Given the description of an element on the screen output the (x, y) to click on. 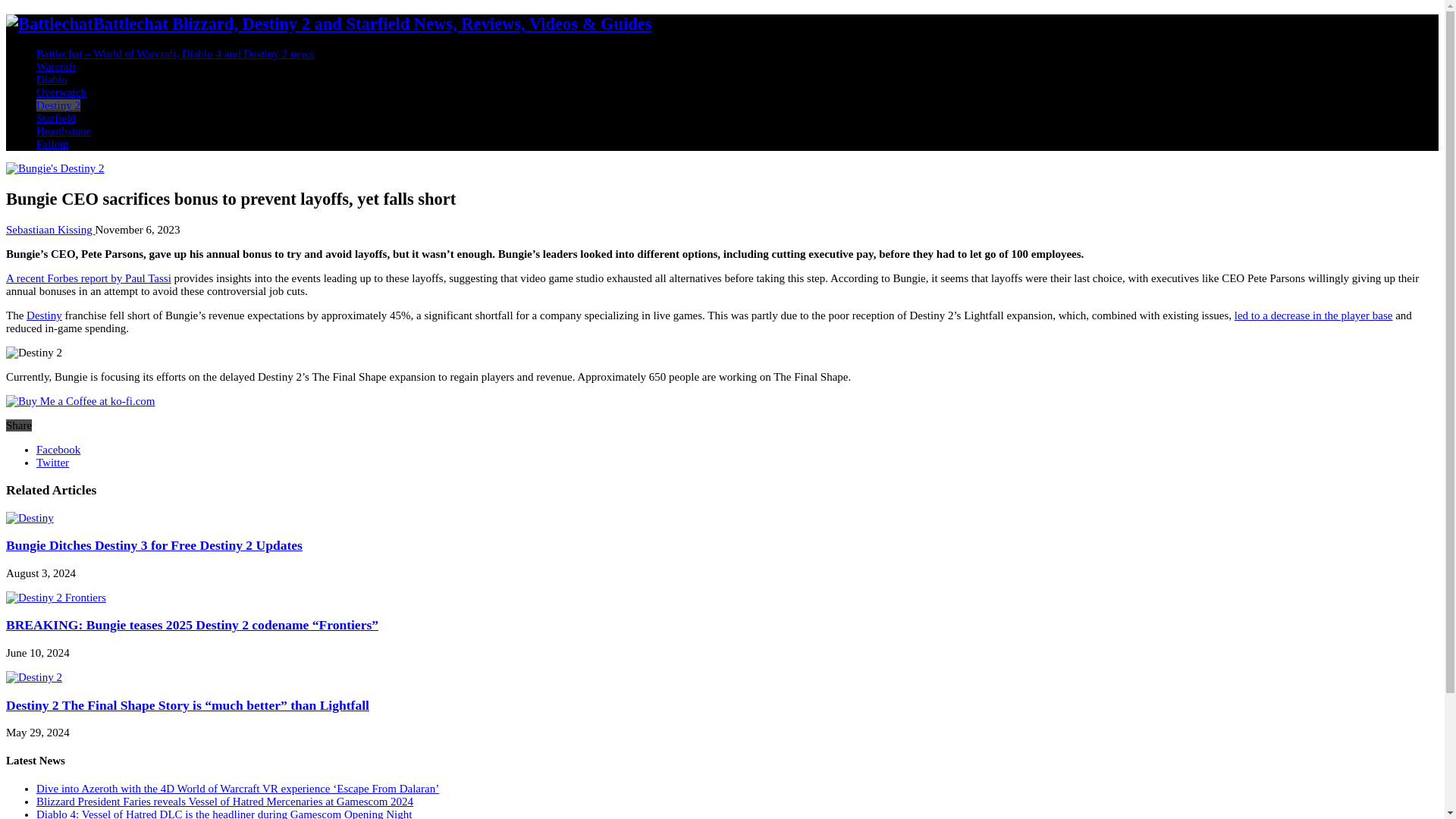
Starfield (55, 118)
A recent Forbes report by Paul Tassi (88, 277)
Diablo (51, 79)
Bungie Ditches Destiny 3 for Free Destiny 2 Updates (153, 544)
Overwatch (60, 92)
Fallout (52, 143)
led to a decrease in the player base (1313, 315)
Twitter (52, 462)
Hearthstone (63, 131)
